Given the description of an element on the screen output the (x, y) to click on. 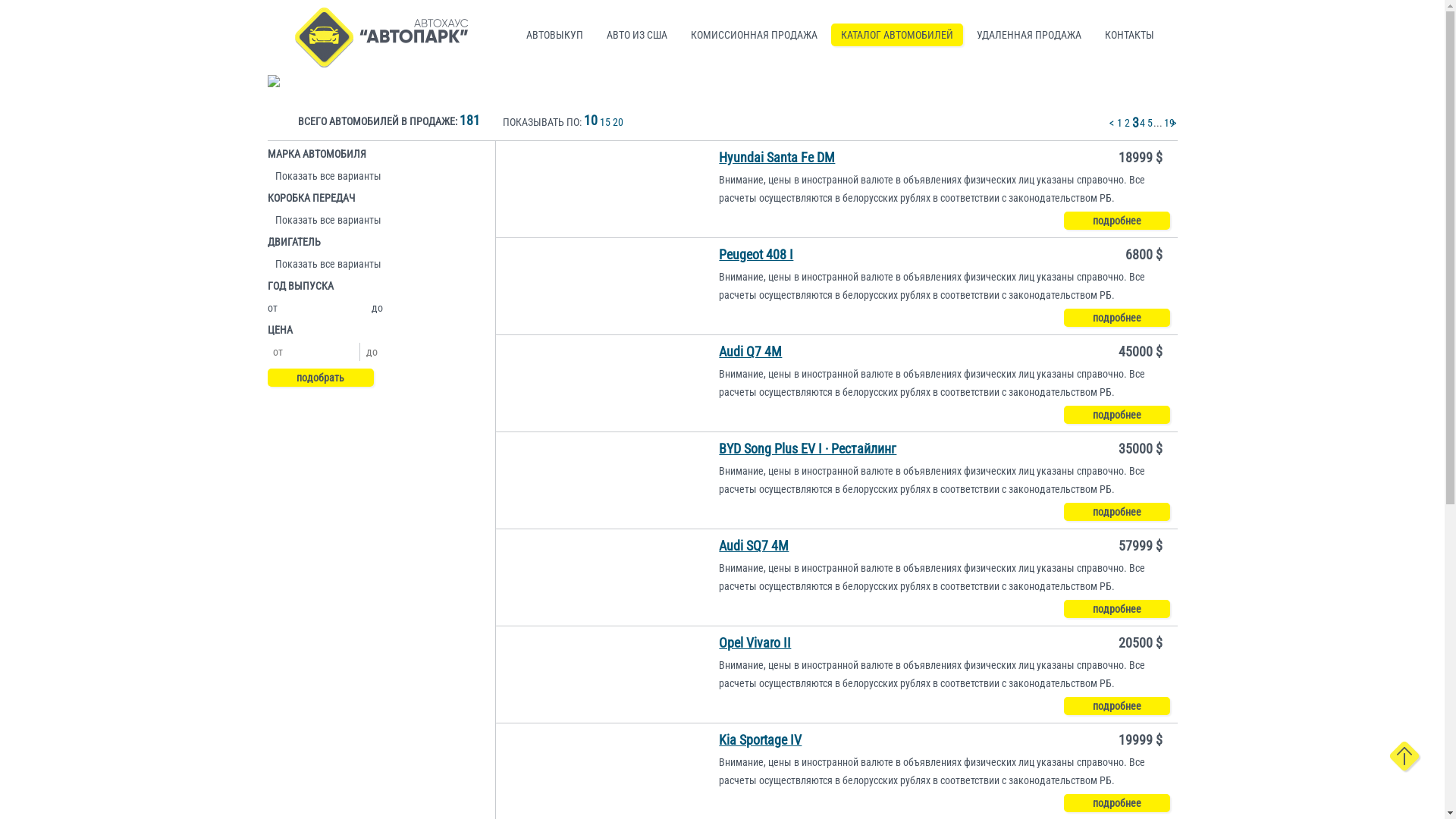
10 Element type: text (590, 120)
1 Element type: text (1118, 122)
< Element type: text (1110, 122)
Audi SQ7 4M Element type: text (753, 545)
Opel Vivaro II Element type: text (754, 642)
Kia Sportage IV Element type: text (759, 740)
19 Element type: text (1165, 122)
15 Element type: text (604, 121)
20 Element type: text (617, 121)
4 Element type: text (1141, 122)
2 Element type: text (1125, 122)
Hyundai Santa Fe DM Element type: text (776, 157)
Audi Q7 4M Element type: text (749, 351)
Peugeot 408 I Element type: text (755, 254)
5 Element type: text (1148, 122)
> Element type: text (1172, 122)
